Given the description of an element on the screen output the (x, y) to click on. 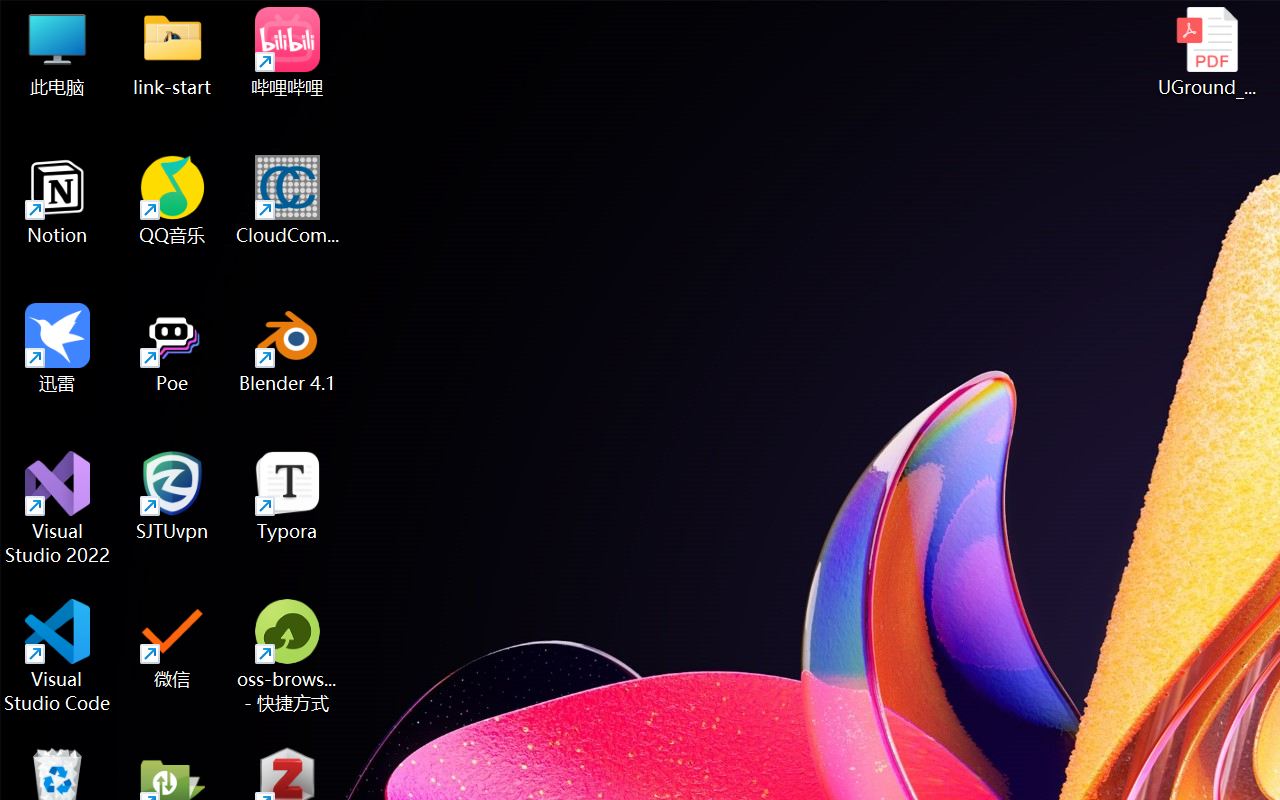
Visual Studio 2022 (57, 508)
Typora (287, 496)
Blender 4.1 (287, 348)
UGround_paper.pdf (1206, 52)
CloudCompare (287, 200)
SJTUvpn (172, 496)
Visual Studio Code (57, 656)
